Given the description of an element on the screen output the (x, y) to click on. 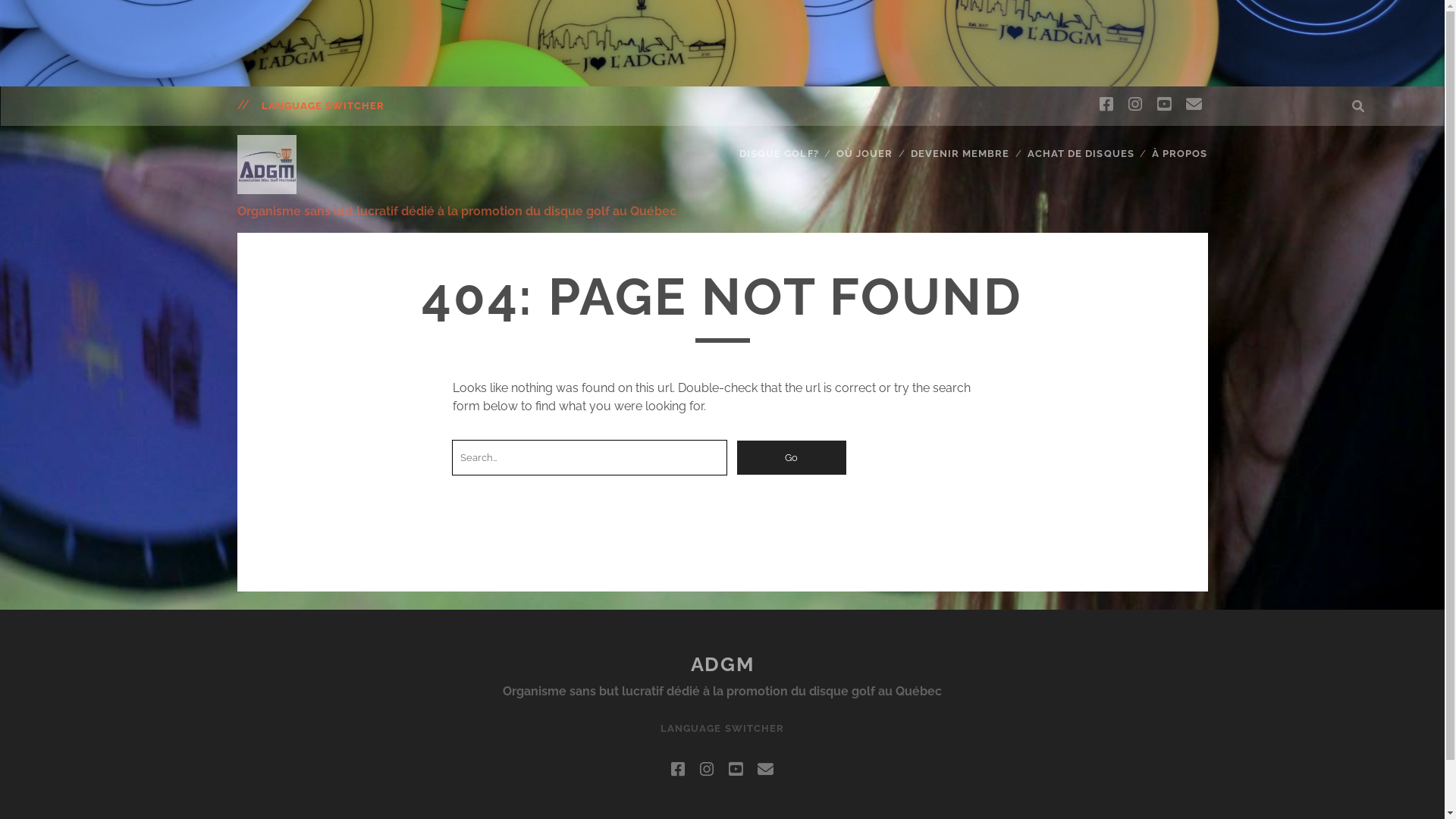
ACHAT DE DISQUES Element type: text (1080, 153)
instagram Element type: hover (706, 769)
Search for: Element type: hover (589, 457)
LANGUAGE SWITCHER Element type: text (322, 106)
instagram Element type: hover (1135, 104)
facebook Element type: text (1106, 104)
facebook Element type: text (677, 769)
facebook Element type: hover (677, 769)
LANGUAGE SWITCHER Element type: text (722, 728)
DEVENIR MEMBRE Element type: text (960, 153)
ADGM Element type: text (721, 663)
email Element type: hover (1193, 104)
email Element type: text (765, 769)
Visit page Element type: text (722, 43)
youtube Element type: text (735, 769)
youtube Element type: hover (1163, 104)
facebook Element type: hover (1106, 104)
Go Element type: text (791, 457)
youtube Element type: hover (735, 769)
instagram Element type: text (706, 769)
email Element type: text (1193, 104)
youtube Element type: text (1163, 104)
email Element type: hover (765, 769)
DISQUE GOLF? Element type: text (779, 153)
instagram Element type: text (1135, 104)
